Given the description of an element on the screen output the (x, y) to click on. 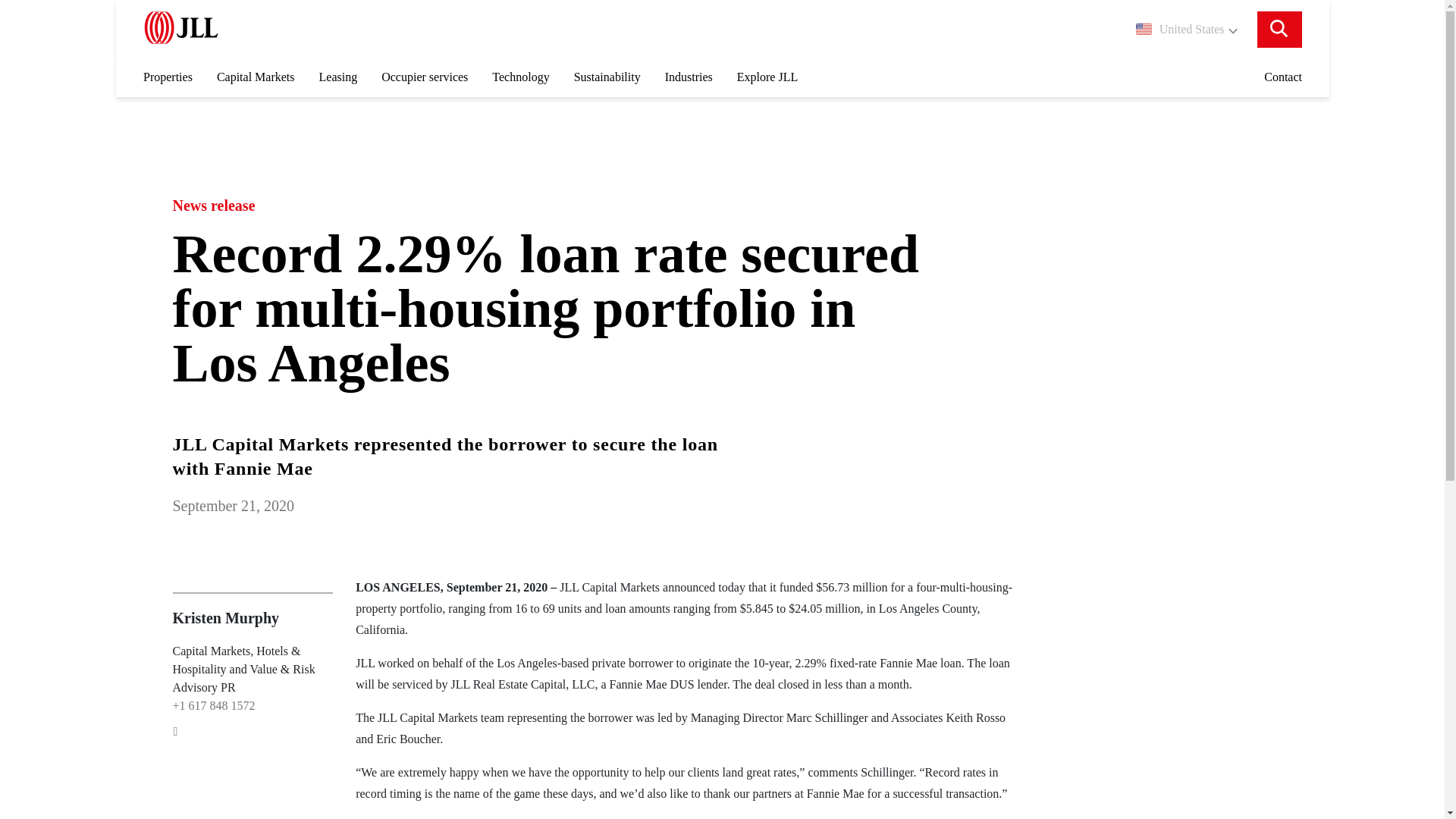
United States (1186, 29)
